Given the description of an element on the screen output the (x, y) to click on. 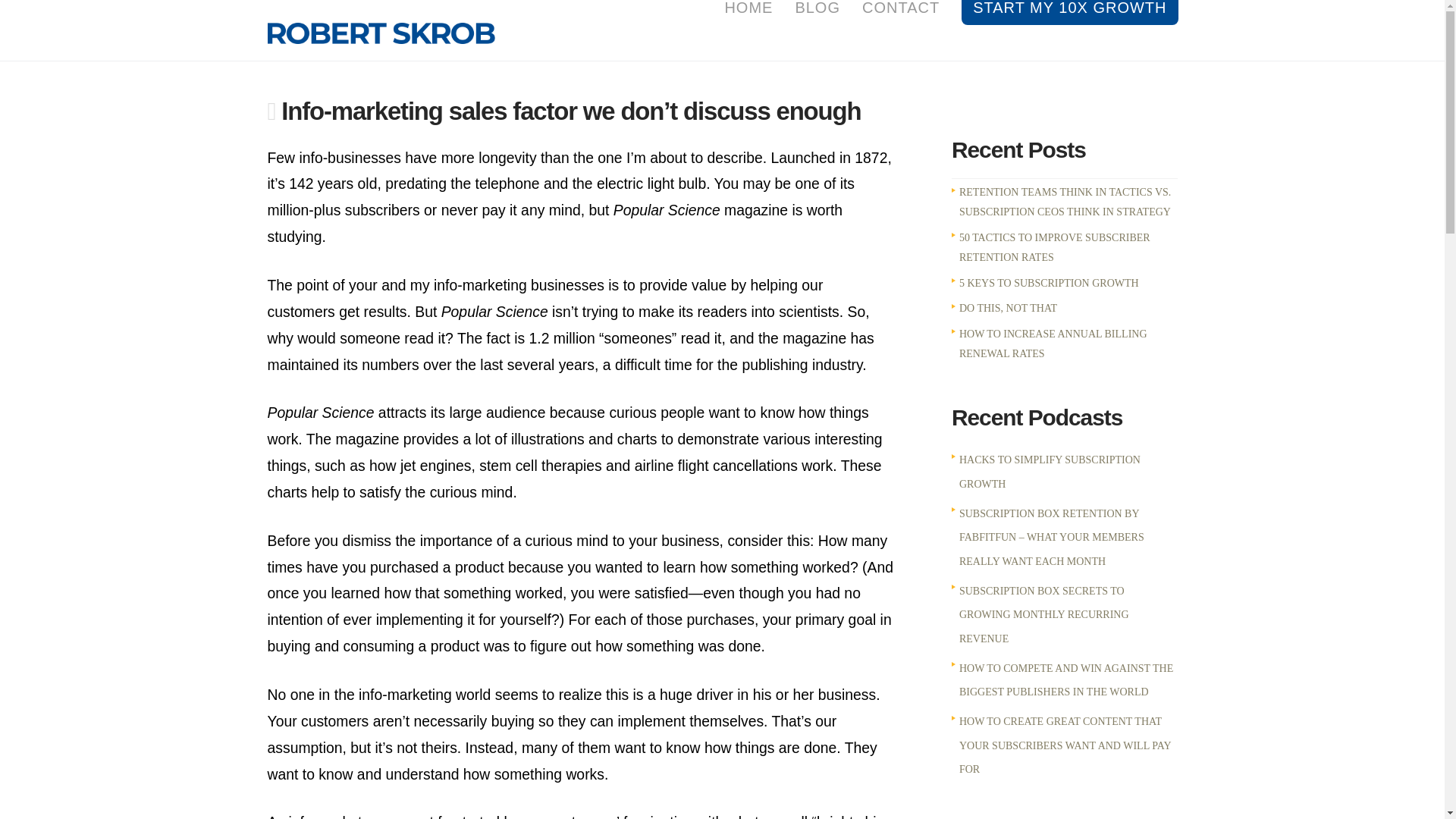
5 Keys to Subscription Growth (1048, 283)
50 TACTICS TO IMPROVE SUBSCRIBER RETENTION RATES (1054, 246)
HOW TO INCREASE ANNUAL BILLING RENEWAL RATES (1053, 343)
START MY 10X GROWTH (1063, 30)
HOME (748, 30)
BLOG (816, 30)
How to Increase Annual Billing Renewal Rates (1053, 343)
